Given the description of an element on the screen output the (x, y) to click on. 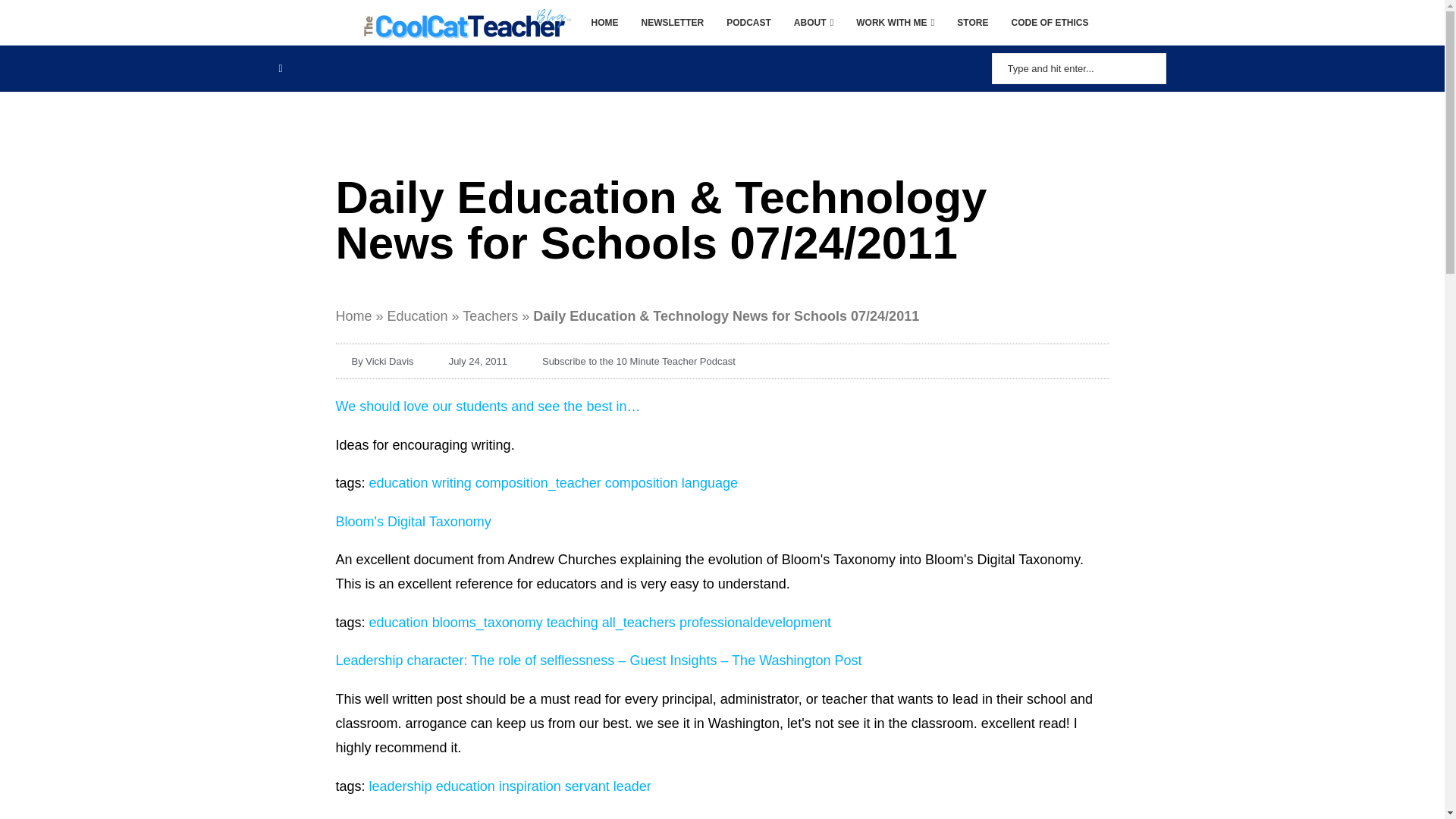
NEWSLETTER (673, 22)
ABOUT (812, 22)
composition (641, 482)
PODCAST (748, 22)
Education (417, 315)
education (398, 482)
language (709, 482)
CODE OF ETHICS (1048, 22)
Subscribe to the 10 Minute Teacher Podcast (630, 360)
Home (352, 315)
